Given the description of an element on the screen output the (x, y) to click on. 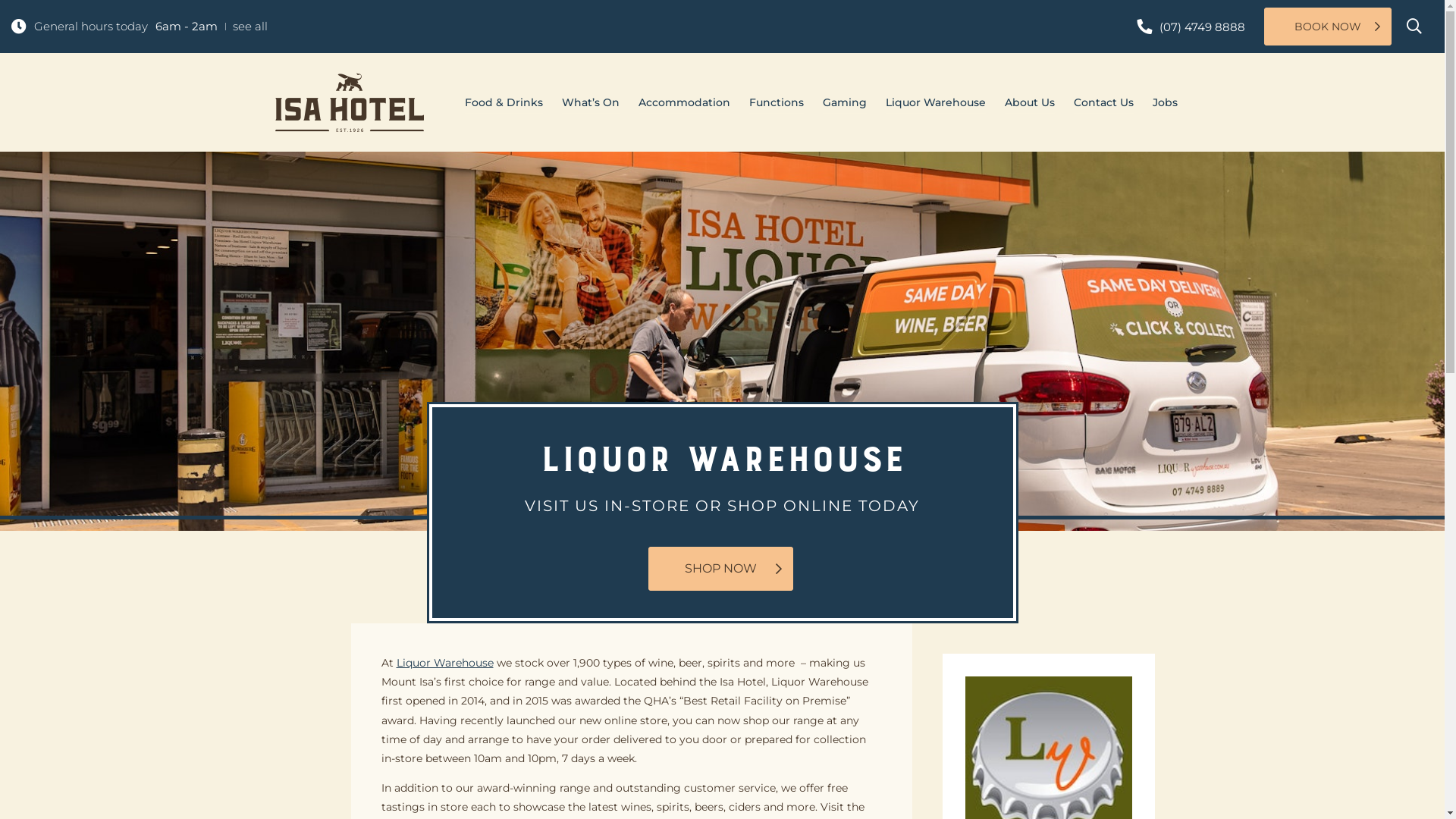
Food & Drinks Element type: text (503, 105)
Liquor Warehouse Element type: text (935, 105)
Functions Element type: text (776, 105)
Contact Us Element type: text (1103, 105)
(07) 4749 8888 Element type: text (1190, 26)
Accommodation Element type: text (684, 105)
Jobs Element type: text (1164, 105)
SHOP NOW Element type: text (720, 568)
BOOK NOW Element type: text (1327, 26)
About Us Element type: text (1029, 105)
Liquor Warehouse Element type: text (443, 662)
see all Element type: text (249, 25)
Gaming Element type: text (844, 105)
